Given the description of an element on the screen output the (x, y) to click on. 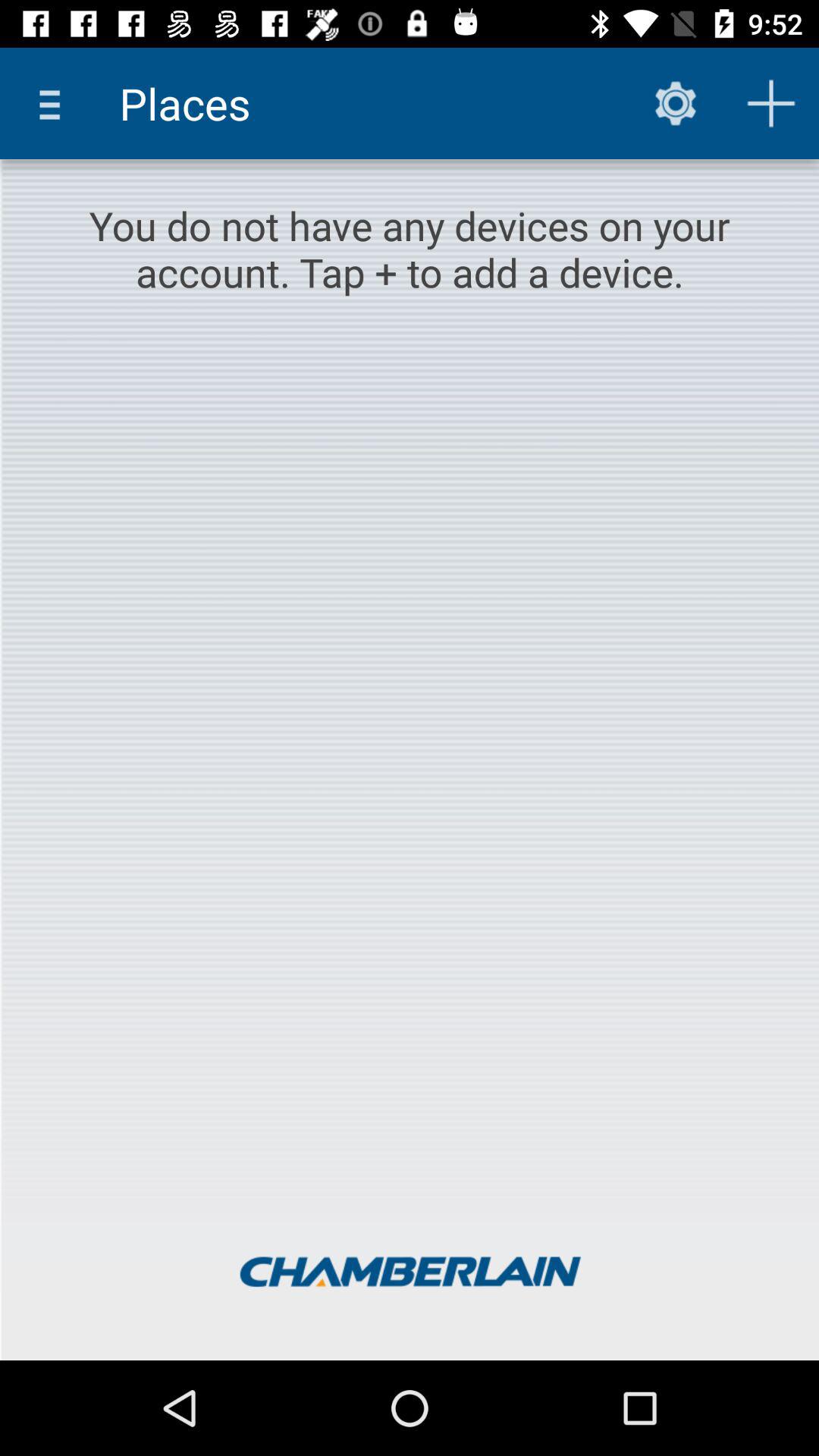
open the item next to the places (55, 103)
